Given the description of an element on the screen output the (x, y) to click on. 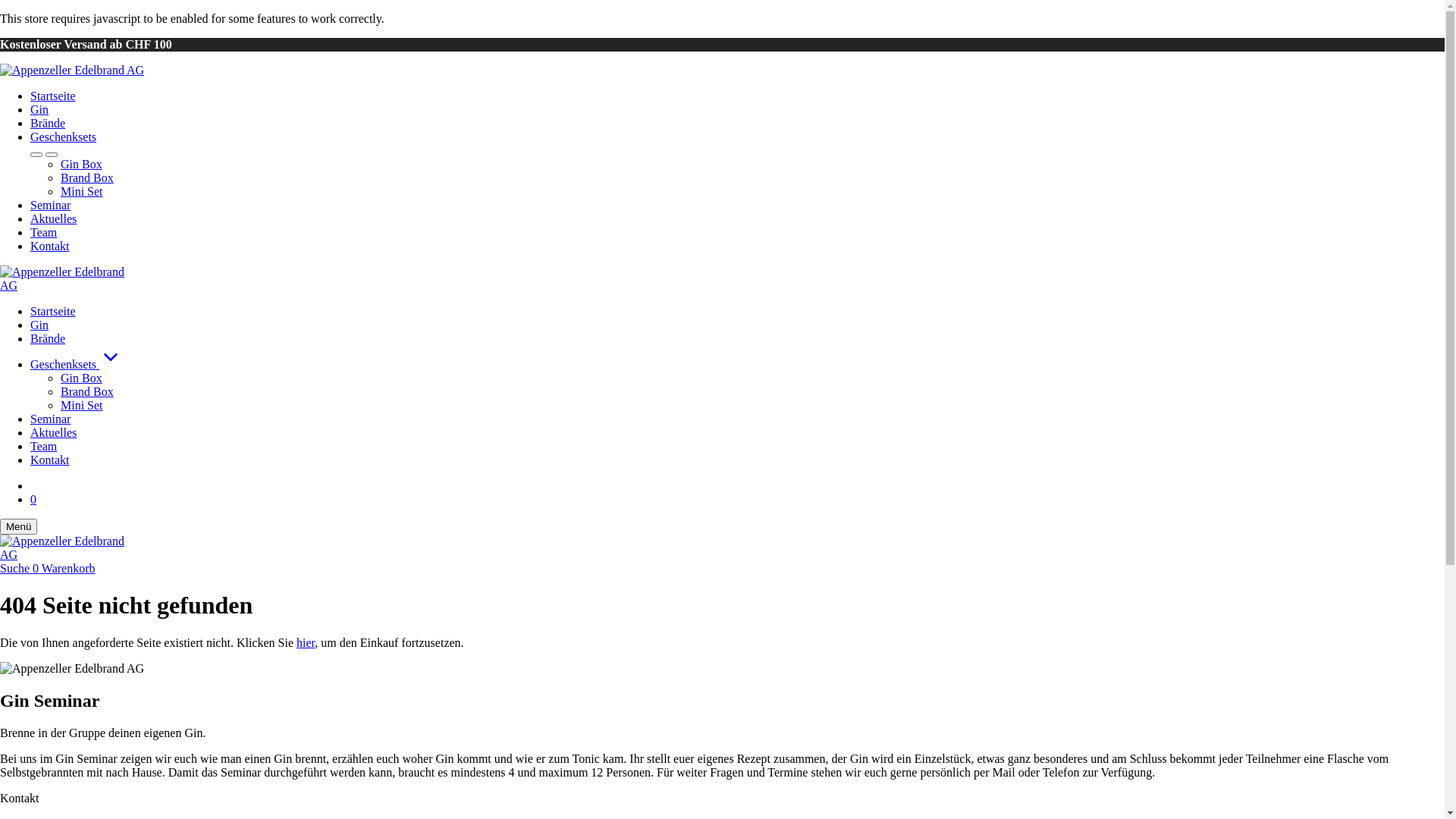
0 Warenkorb Element type: text (63, 567)
Team Element type: text (43, 445)
Seminar Element type: text (50, 204)
Kontakt Element type: text (49, 245)
Kontakt Element type: text (49, 459)
Geschenksets Element type: text (737, 358)
Aktuelles Element type: text (53, 218)
Gin Box Element type: text (81, 377)
Seminar Element type: text (50, 418)
Brand Box Element type: text (86, 177)
Aktuelles Element type: text (53, 432)
Gin Box Element type: text (81, 163)
Suche Element type: text (16, 567)
Brand Box Element type: text (86, 391)
Team Element type: text (43, 231)
Startseite Element type: text (52, 95)
0 Element type: text (33, 498)
Gin Element type: text (39, 324)
Startseite Element type: text (52, 310)
Mini Set Element type: text (81, 191)
Gin Element type: text (39, 109)
Geschenksets Element type: text (63, 136)
Mini Set Element type: text (81, 404)
hier Element type: text (305, 642)
